Given the description of an element on the screen output the (x, y) to click on. 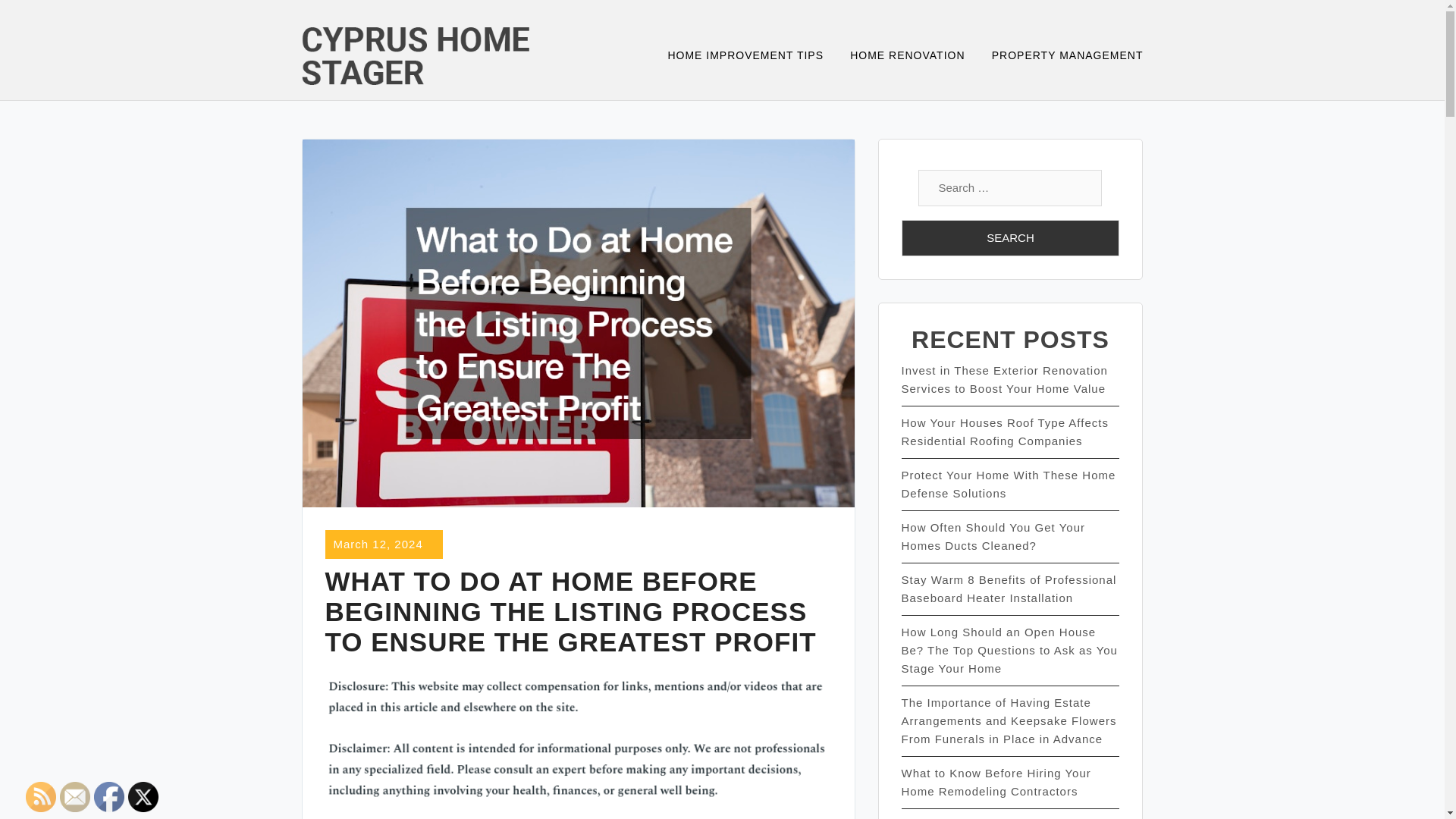
HOME RENOVATION (917, 55)
RSS (41, 797)
How Often Should You Get Your Homes Ducts Cleaned? (992, 536)
HOME IMPROVEMENT TIPS (754, 55)
PROPERTY MANAGEMENT (1066, 55)
Search (1010, 238)
Protect Your Home With These Home Defense Solutions (1008, 483)
Search (1010, 238)
March 12, 2024 (378, 543)
Follow by Email (74, 797)
